Given the description of an element on the screen output the (x, y) to click on. 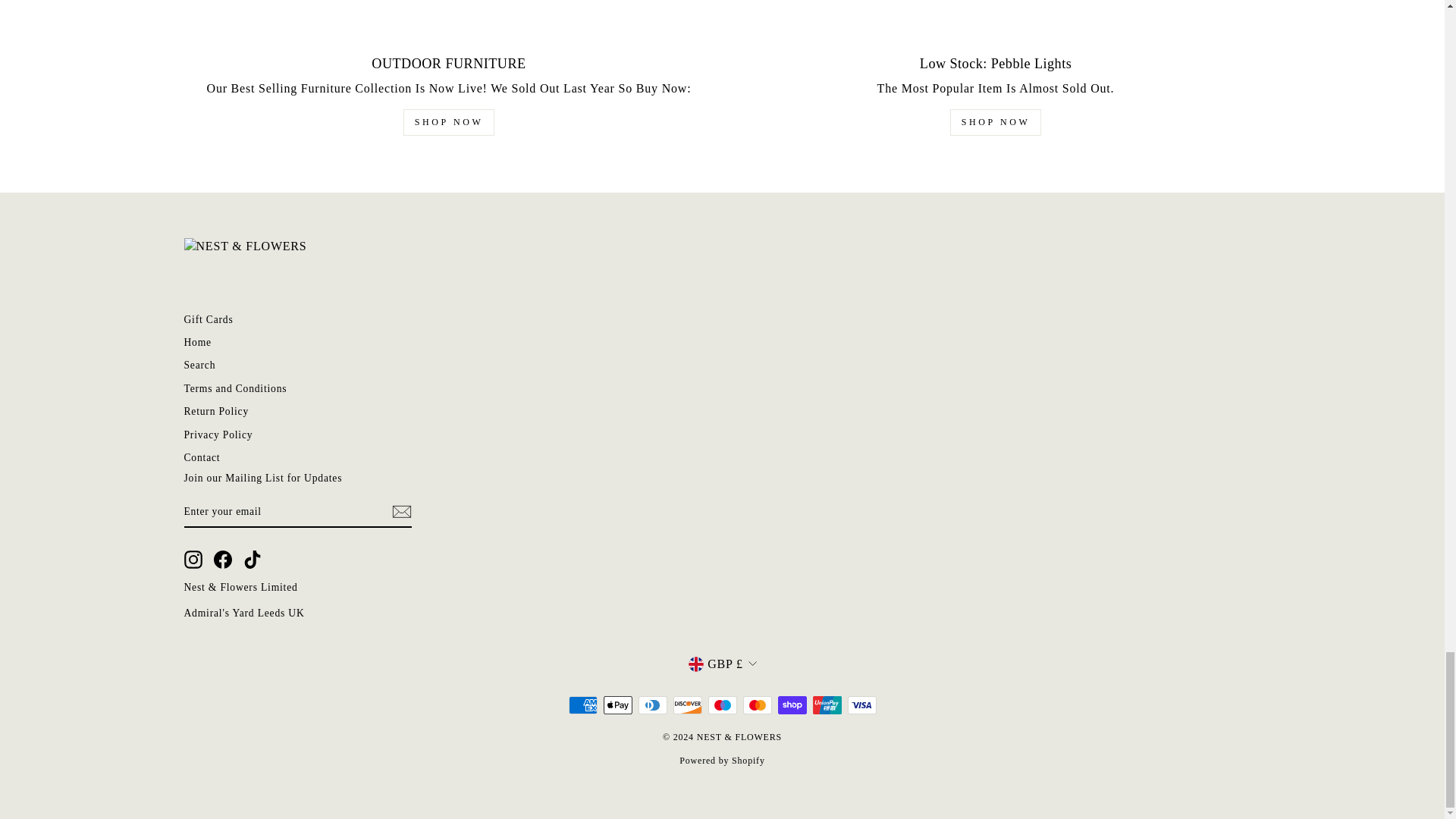
American Express (582, 705)
Diners Club (652, 705)
Apple Pay (617, 705)
